Given the description of an element on the screen output the (x, y) to click on. 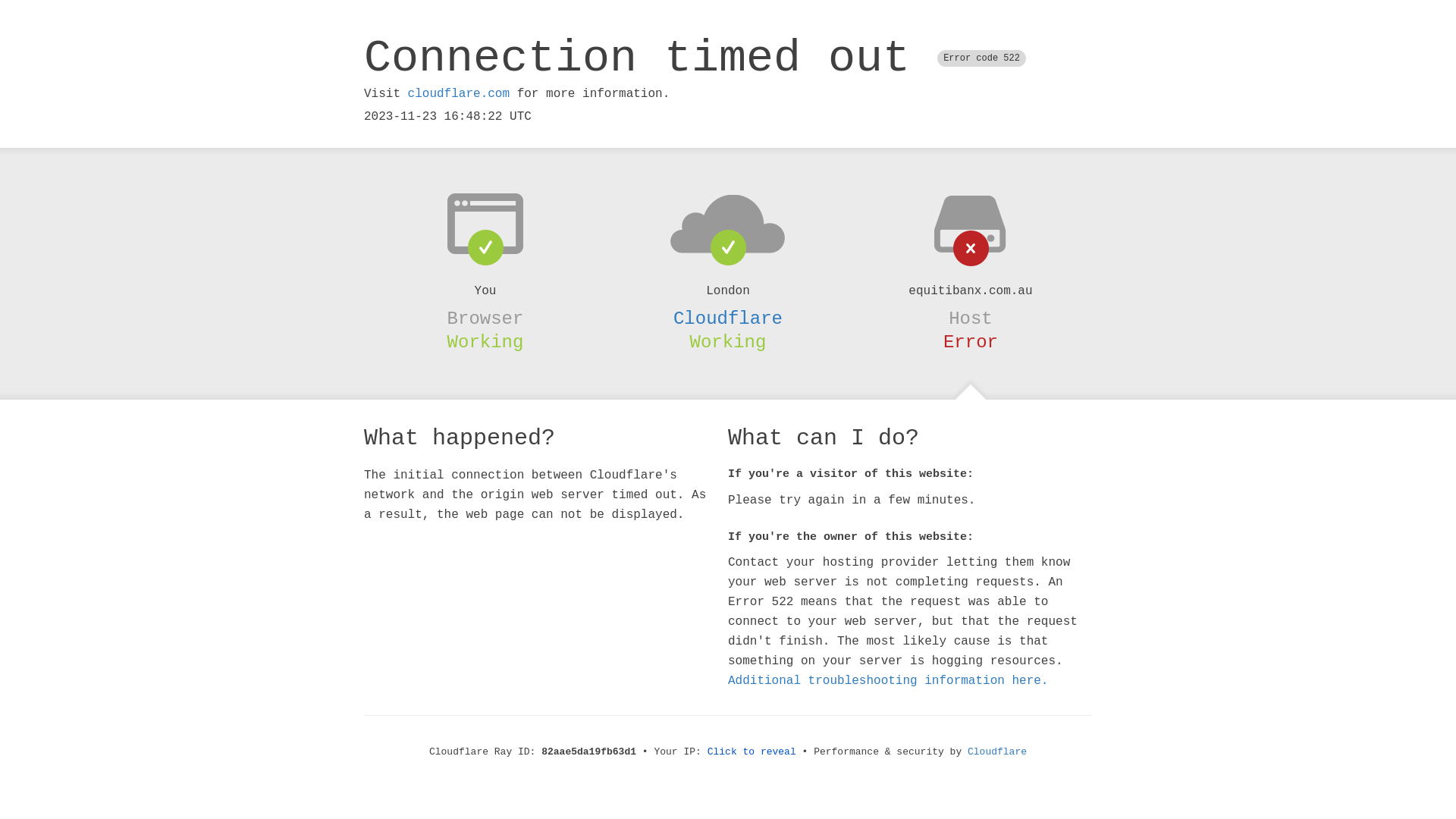
cloudflare.com Element type: text (458, 93)
Cloudflare Element type: text (727, 318)
Additional troubleshooting information here. Element type: text (888, 680)
Cloudflare Element type: text (996, 751)
Click to reveal Element type: text (751, 751)
